Given the description of an element on the screen output the (x, y) to click on. 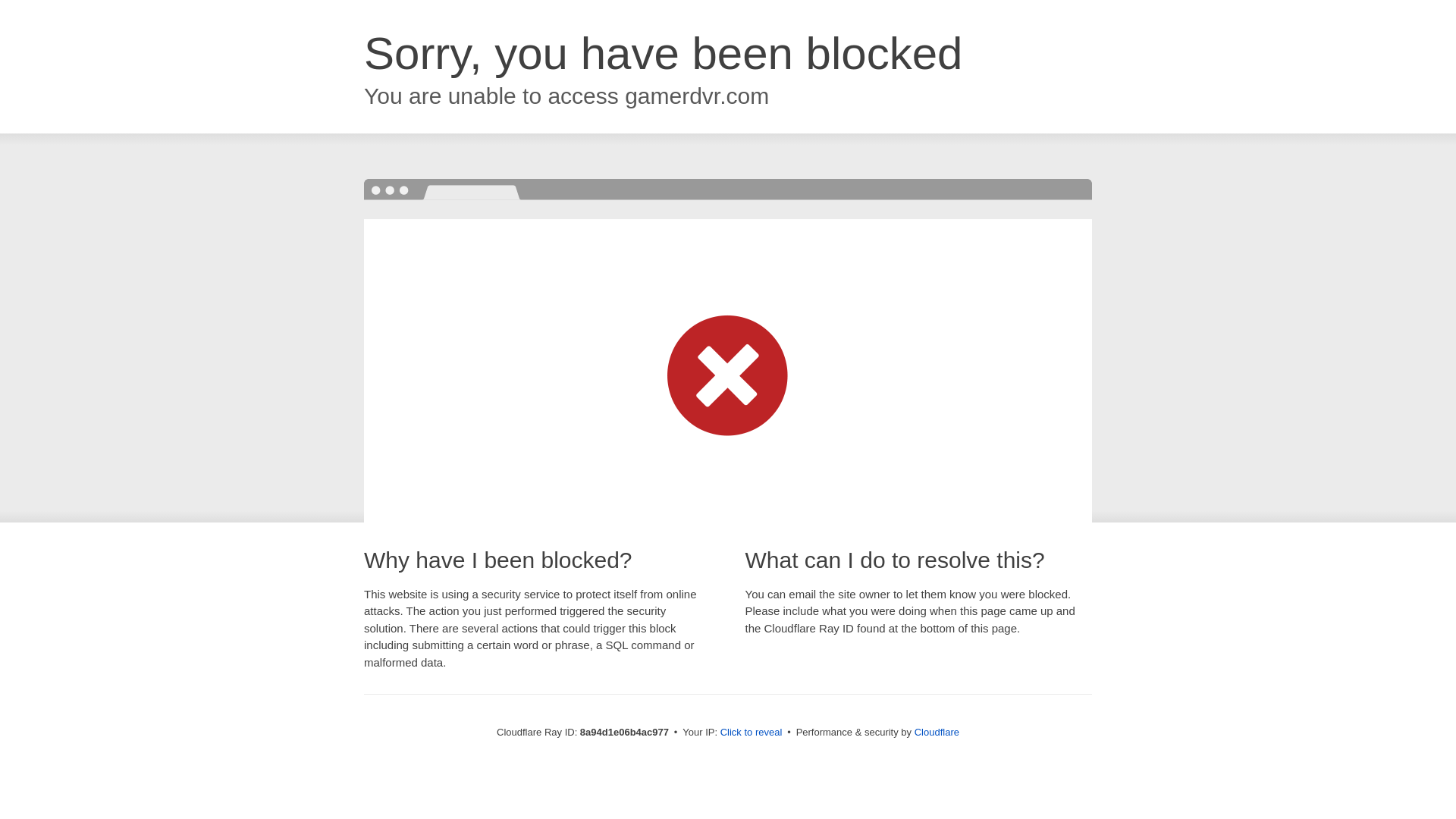
Cloudflare (936, 731)
Click to reveal (751, 732)
